Given the description of an element on the screen output the (x, y) to click on. 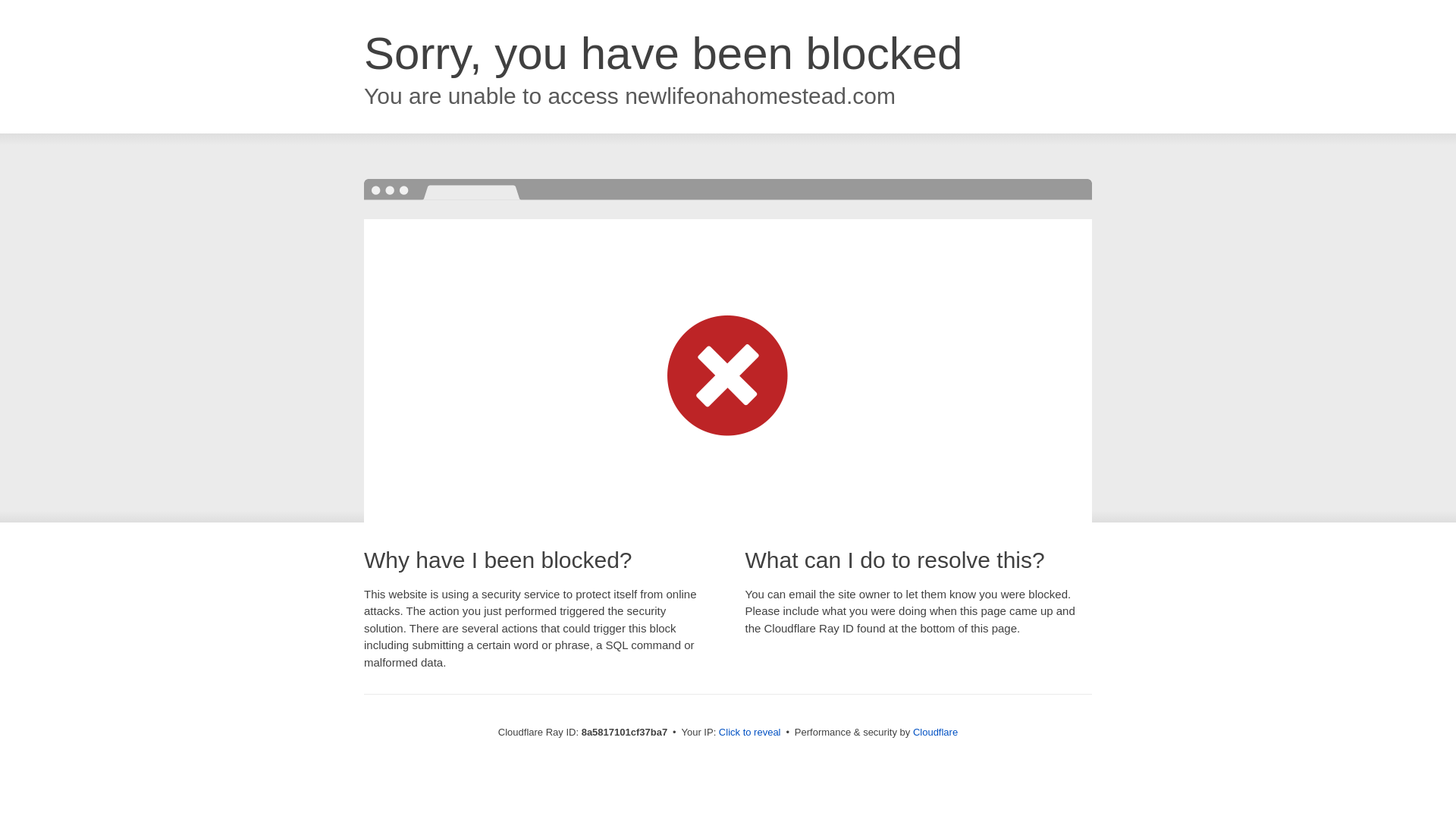
Cloudflare (935, 731)
Click to reveal (749, 732)
